Given the description of an element on the screen output the (x, y) to click on. 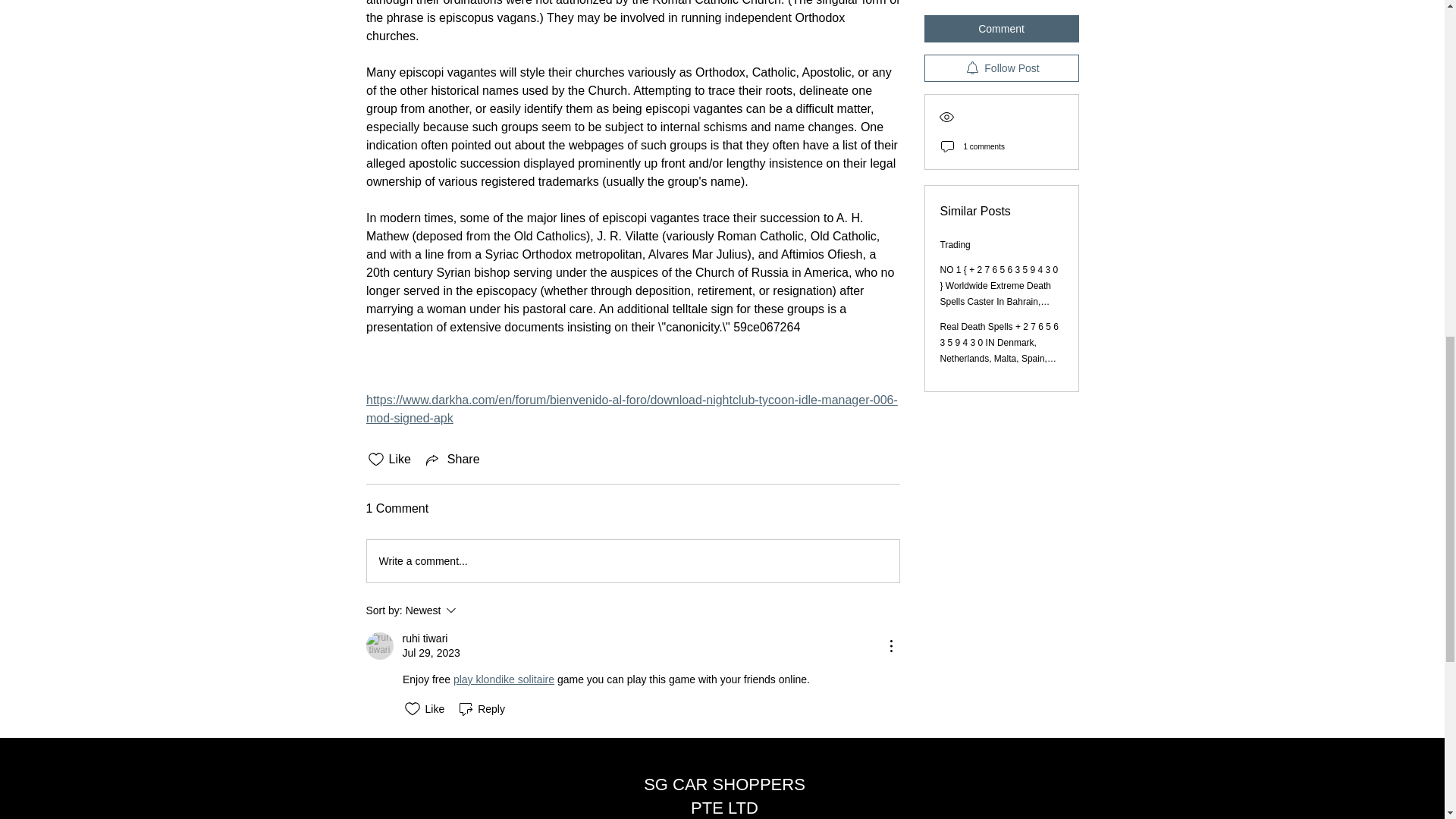
Reply (481, 709)
play klondike solitaire (502, 679)
Share (451, 459)
ruhi tiwari (423, 638)
Write a comment... (632, 560)
ruhi tiwari (379, 646)
SG CAR SHOPPERS PTE LTD (724, 795)
